Given the description of an element on the screen output the (x, y) to click on. 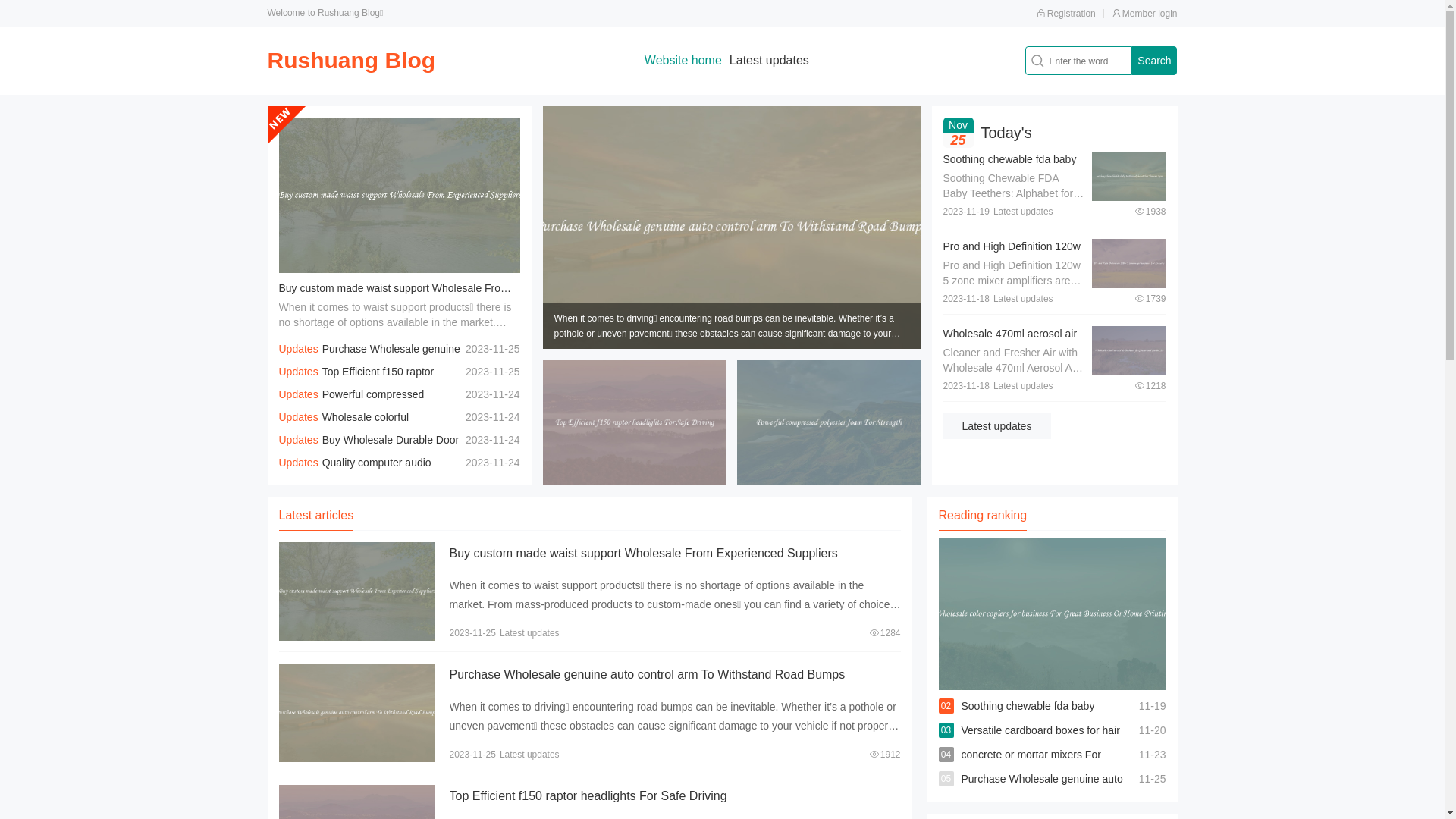
Buy Wholesale Durable Door for Stairs From Manufacturers Element type: text (369, 450)
Latest updates Element type: text (769, 59)
concrete or mortar mixers For Remarkable Performance Element type: text (1031, 766)
Latest updates Element type: text (997, 426)
Registration Element type: text (1065, 13)
Powerful compressed polyester foam For Strength Element type: text (351, 405)
Top Efficient f150 raptor headlights For Safe Driving Element type: text (587, 795)
Versatile cardboard boxes for hair packaging Items Element type: text (1040, 742)
Member login Element type: text (1144, 13)
Search Element type: text (1153, 60)
Website home Element type: text (682, 59)
Quality computer audio cables stereo for Devices Element type: text (355, 473)
Top Efficient f150 raptor headlights For Safe Driving Element type: text (356, 382)
Rushuang Blog Element type: text (350, 59)
